Given the description of an element on the screen output the (x, y) to click on. 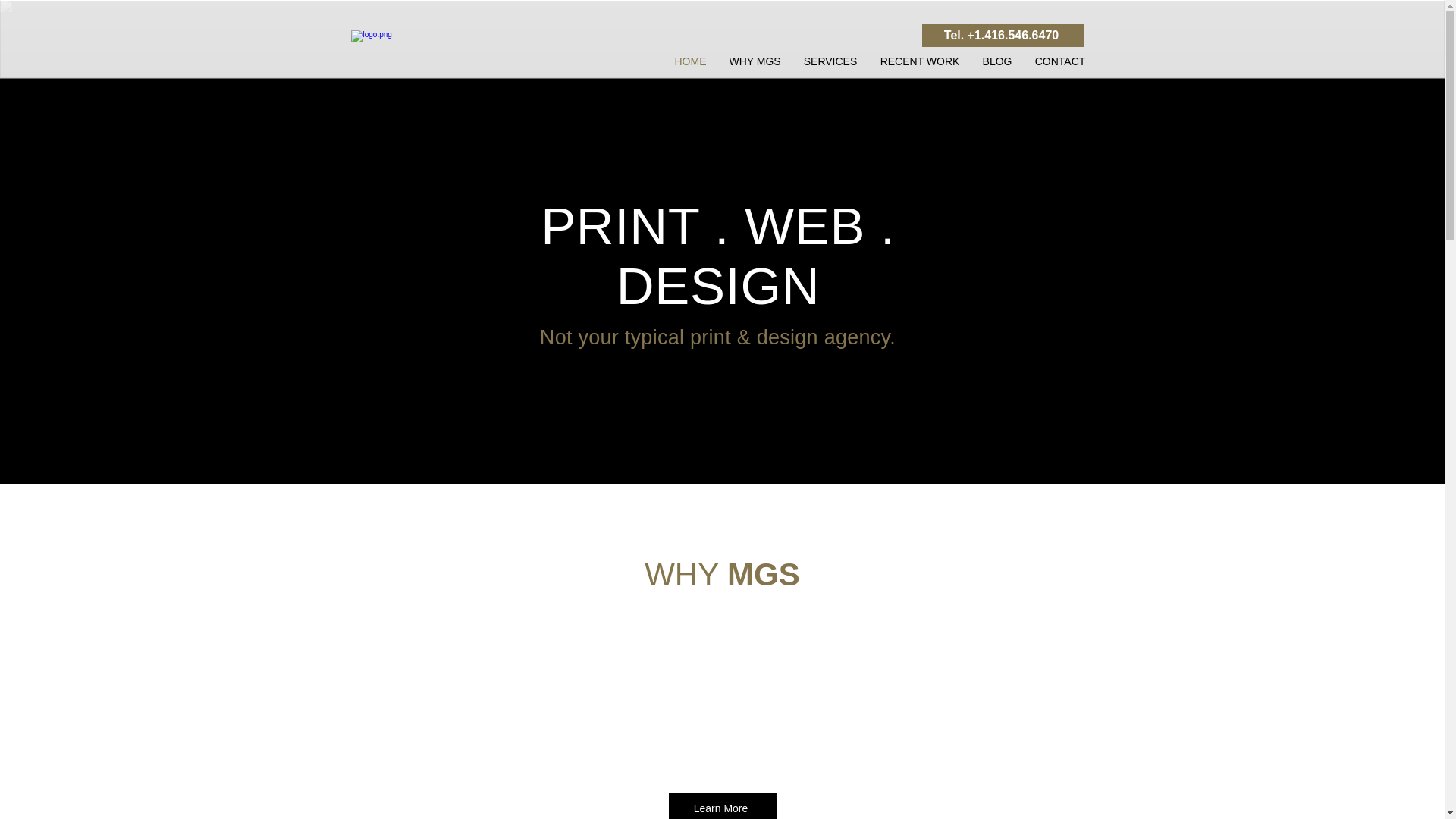
Learn More (722, 806)
SERVICES (829, 60)
HOME (689, 60)
CONTACT (1060, 60)
BLOG (997, 60)
RECENT WORK (920, 60)
WHY MGS (754, 60)
